Given the description of an element on the screen output the (x, y) to click on. 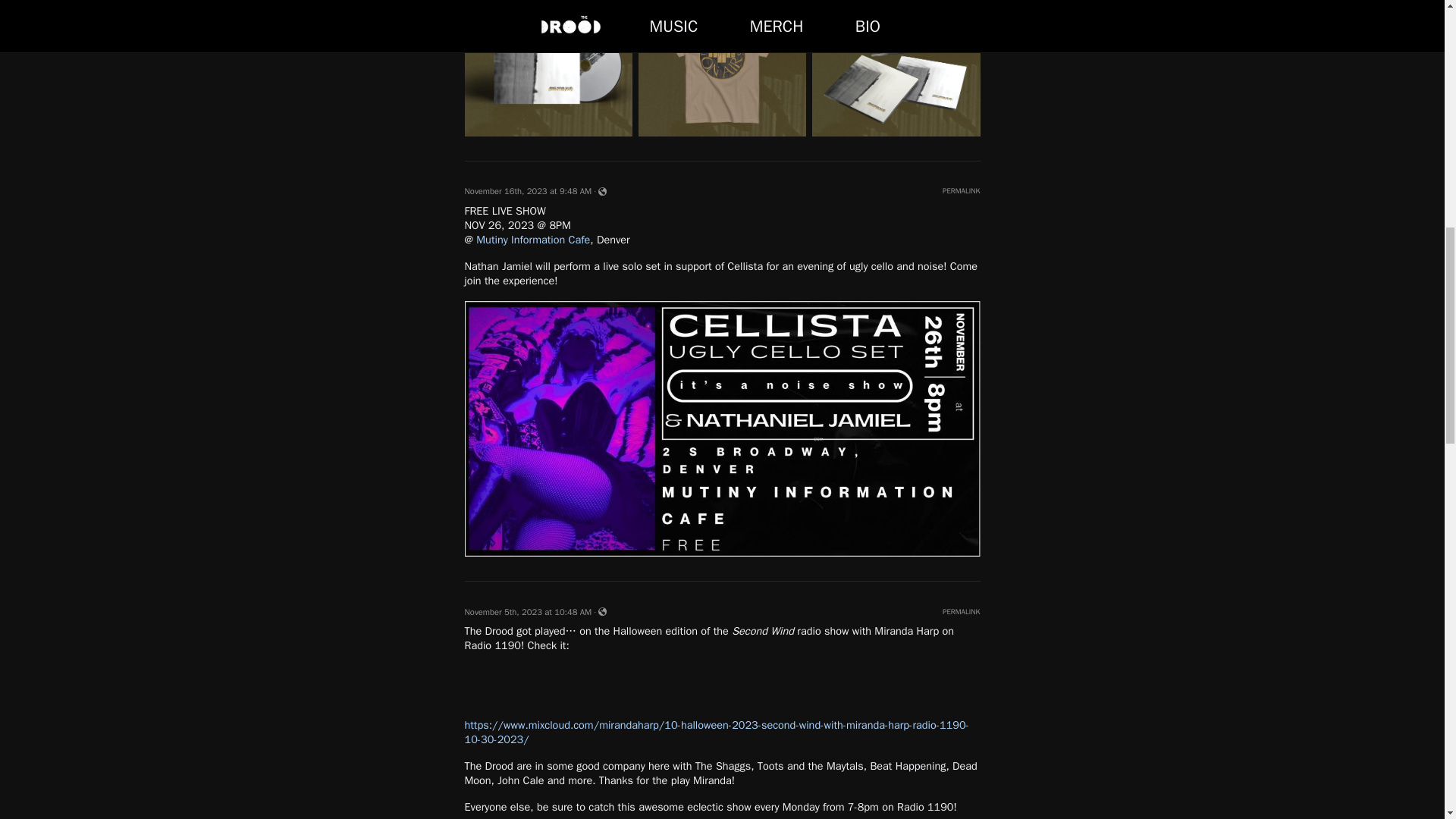
Shared with Public (602, 611)
PERMALINK (960, 190)
PERMALINK (960, 610)
Mutiny Information Cafe (532, 239)
Shared with Public (602, 191)
